Given the description of an element on the screen output the (x, y) to click on. 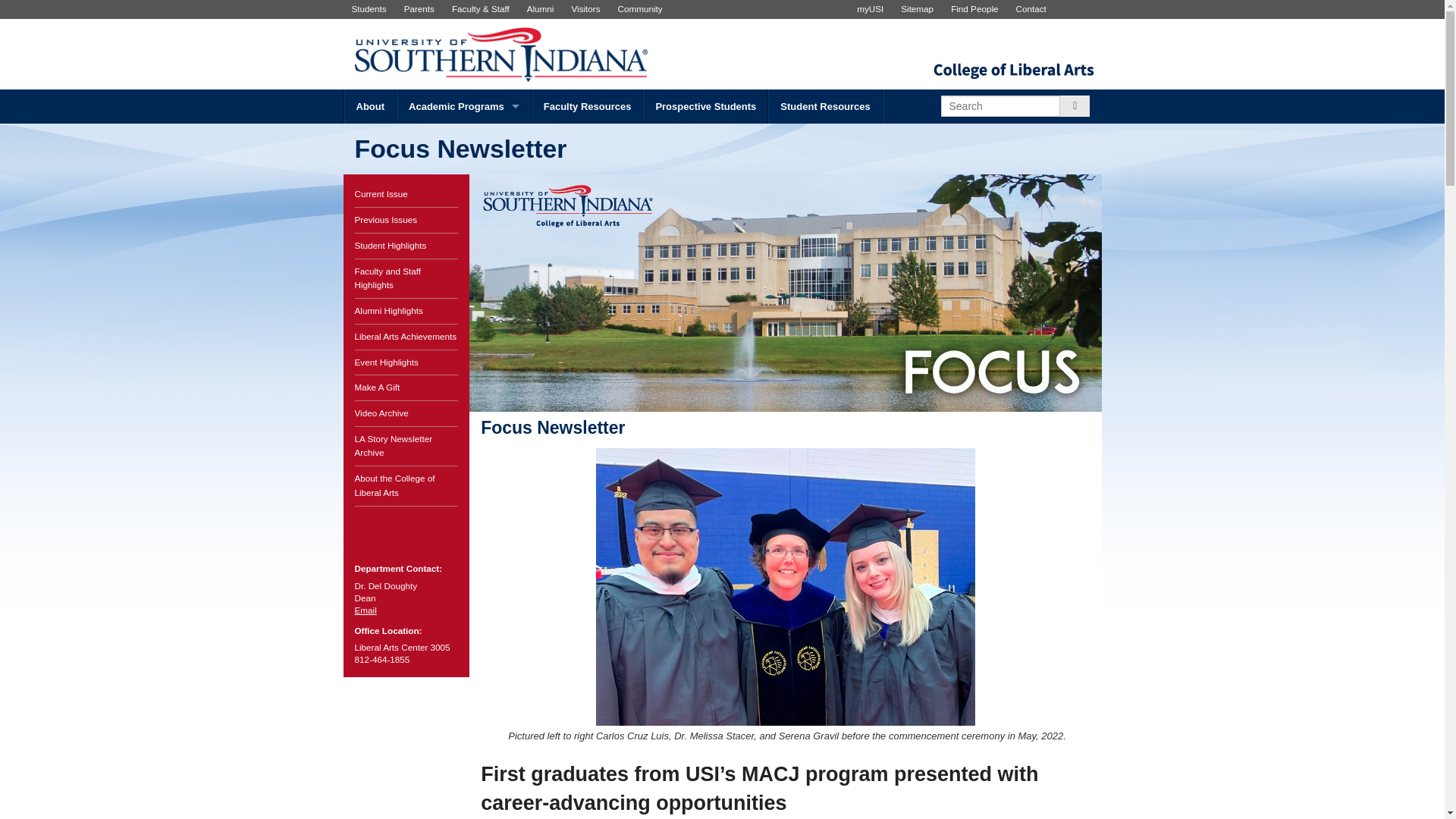
Search usi.edu (999, 106)
Contact (1031, 9)
Sitemap (917, 9)
myUSI (870, 9)
Prospective Students (705, 106)
Students (369, 9)
Academic Programs (464, 106)
Community (639, 9)
Submit Search (1074, 106)
Visitors (584, 9)
Student Resources (824, 106)
About (369, 106)
Parents (418, 9)
Faculty Resources (587, 106)
Find People (973, 9)
